Given the description of an element on the screen output the (x, y) to click on. 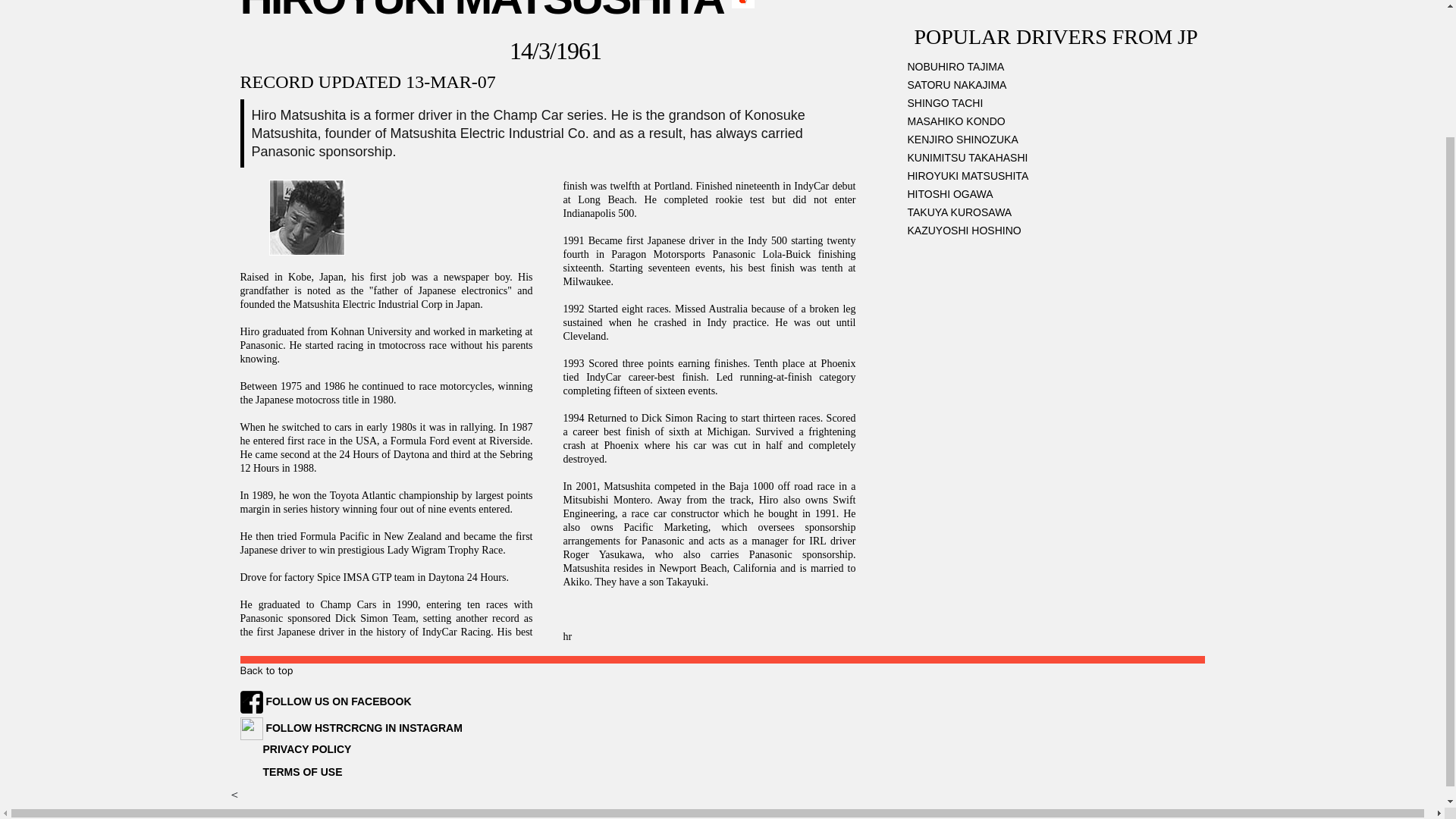
 FOLLOW US ON FACEBOOK (325, 701)
TAKUYA KUROSAWA (1055, 169)
PRIVACY POLICY (295, 748)
HIROYUKI MATSUSHITA (1055, 133)
SATORU NAKAJIMA (1055, 42)
HITOSHI OGAWA (1055, 151)
SHINGO TACHI (1055, 60)
KAZUYOSHI HOSHINO (1055, 188)
KENJIRO SHINOZUKA (1055, 96)
MASAHIKO KONDO (1055, 78)
NOBUHIRO TAJIMA (1055, 24)
TERMS OF USE (291, 771)
Back to top (266, 670)
KUNIMITSU TAKAHASHI (1055, 115)
 FOLLOW HSTRCRCNG IN INSTAGRAM (350, 727)
